Given the description of an element on the screen output the (x, y) to click on. 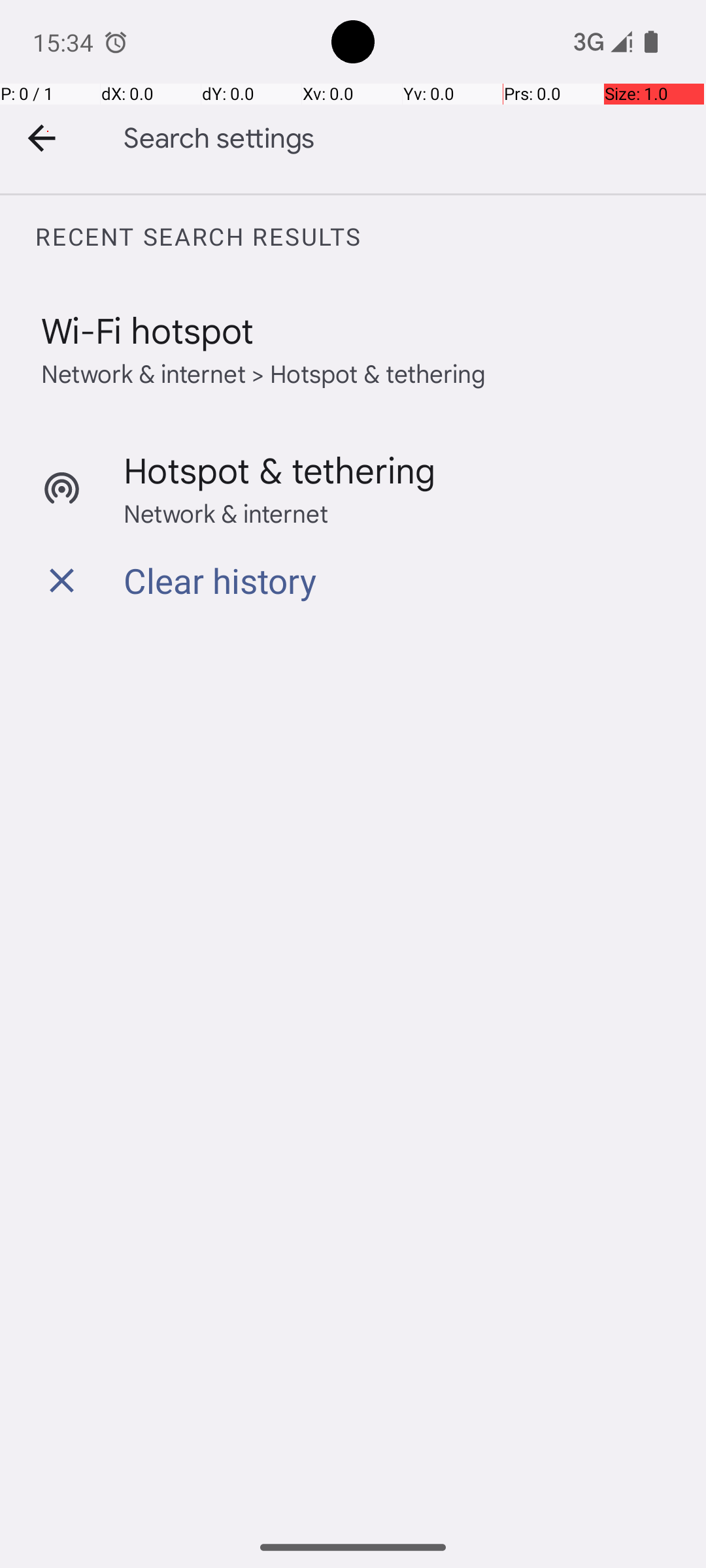
RECENT SEARCH RESULTS Element type: android.widget.TextView (370, 236)
Wi-Fi hotspot Element type: android.widget.TextView (147, 329)
Network & internet > Hotspot & tethering Element type: android.widget.TextView (263, 372)
Clear history Element type: android.widget.TextView (219, 580)
